Given the description of an element on the screen output the (x, y) to click on. 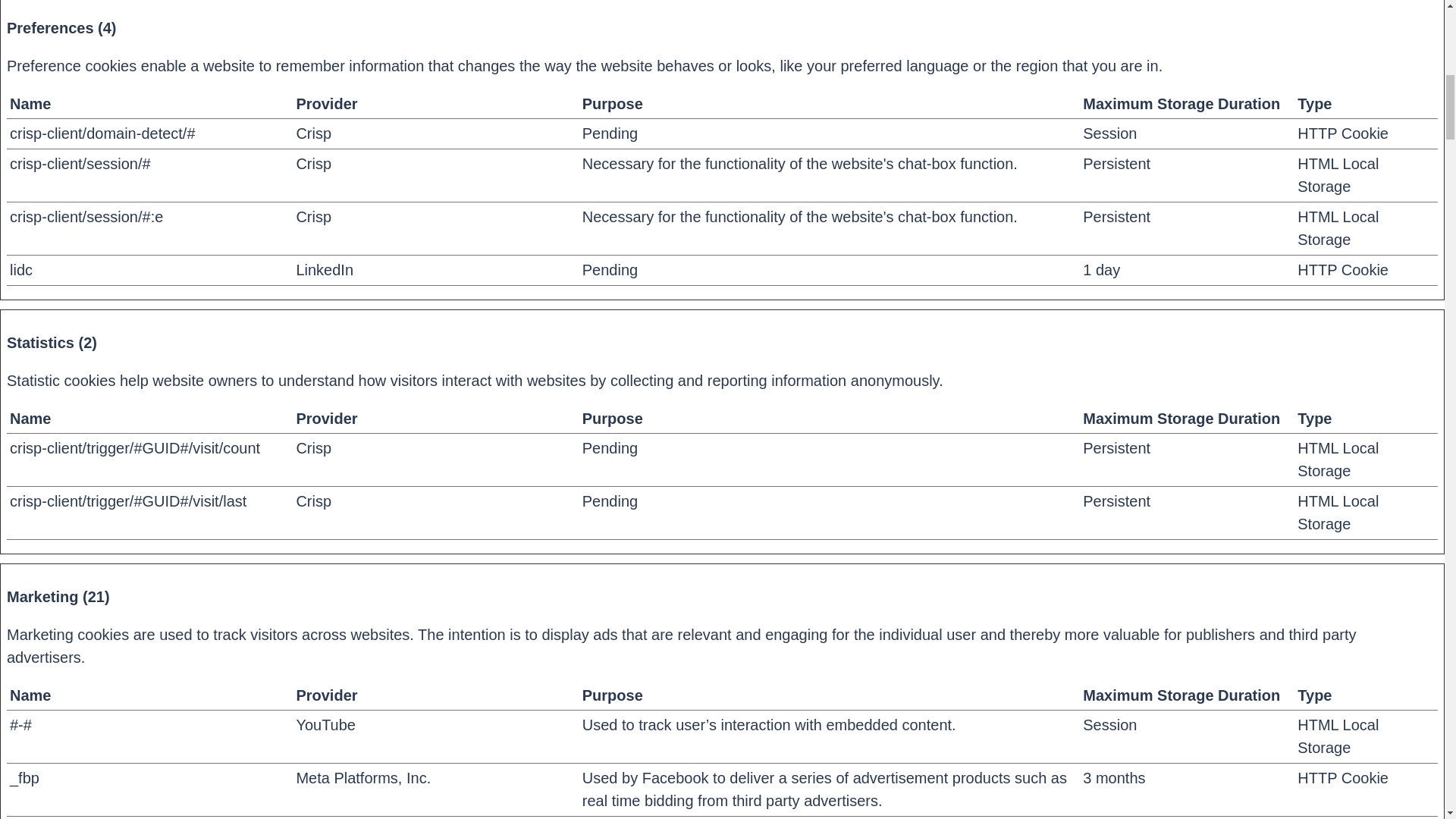
Crisp's privacy policy (313, 447)
Crisp (313, 216)
LinkedIn's privacy policy (324, 269)
Crisp (313, 501)
Crisp's privacy policy (313, 133)
LinkedIn (324, 269)
 Meta Platforms, Inc.'s privacy policy (362, 777)
Crisp (313, 163)
YouTube's privacy policy (325, 724)
YouTube (325, 724)
